Given the description of an element on the screen output the (x, y) to click on. 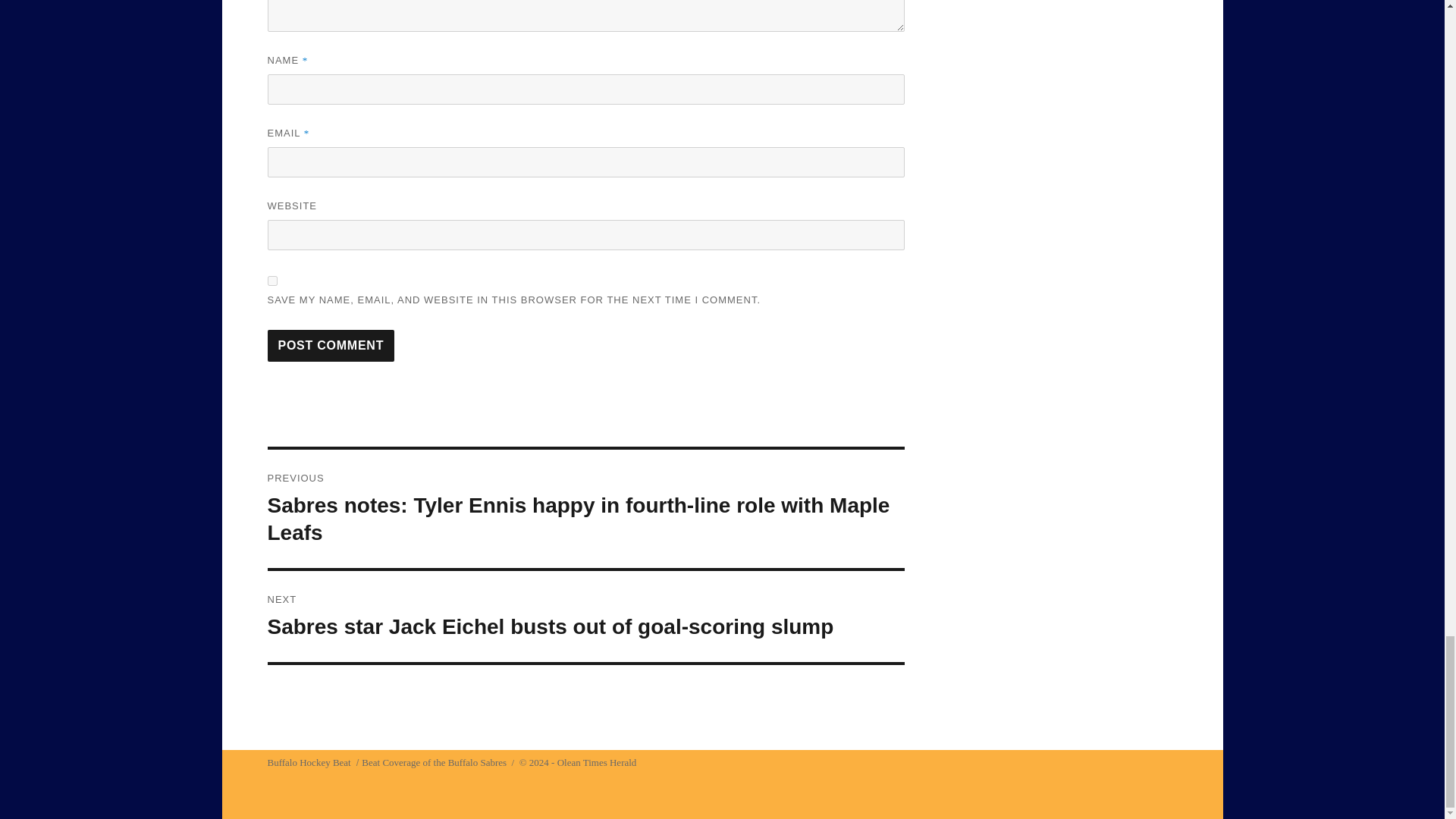
Olean Times Herald (597, 762)
Buffalo Hockey Beat (308, 762)
yes (271, 280)
Post Comment (330, 345)
Post Comment (330, 345)
